Given the description of an element on the screen output the (x, y) to click on. 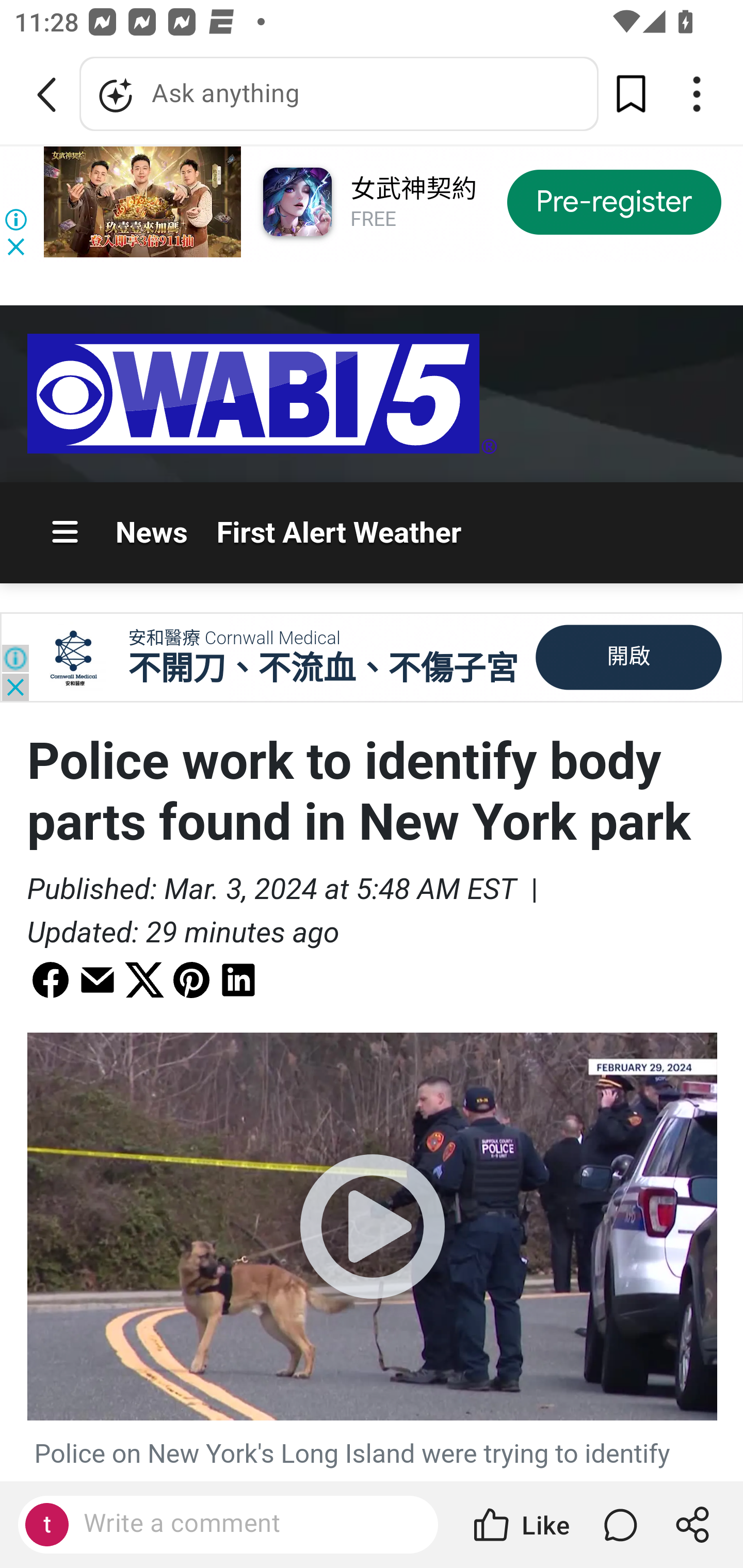
Ask anything (338, 93)
Pre-register (613, 201)
女武神契約 (412, 189)
FREE (372, 219)
Return to the Homepage (261, 393)
News (152, 531)
First Alert Weather (338, 531)
Expand Side Navigation Panel (65, 533)
Share on Facebook (50, 978)
Email This Link (97, 978)
Share on X (formerly Twitter) (143, 978)
Share on Pinterest (191, 978)
Share on LinkedIn (238, 978)
Play (371, 1225)
Play (372, 1226)
Like (519, 1524)
Write a comment (245, 1523)
